Given the description of an element on the screen output the (x, y) to click on. 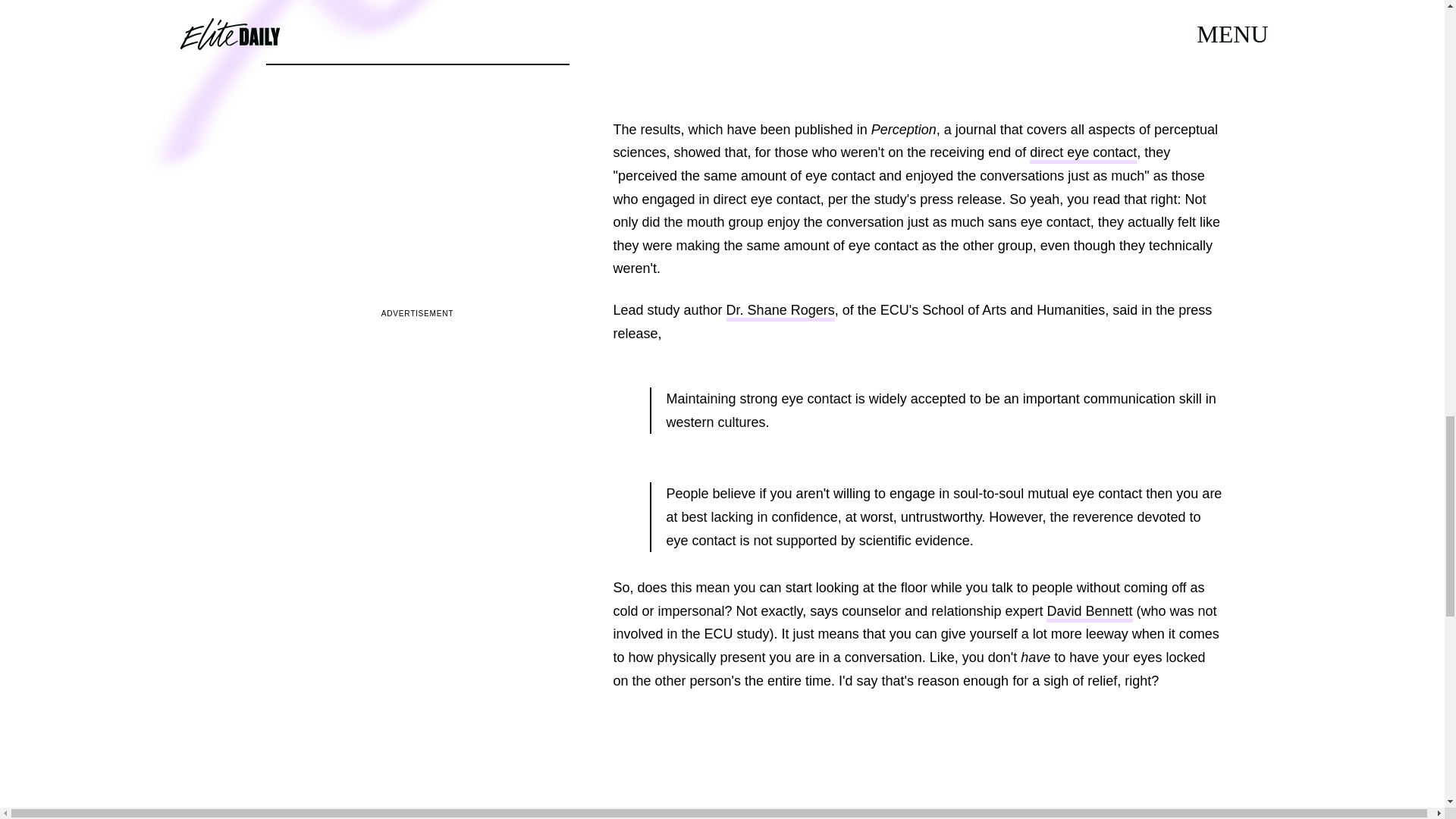
direct eye contact (1083, 153)
Dr. Shane Rogers (780, 311)
David Bennett (1089, 612)
